Given the description of an element on the screen output the (x, y) to click on. 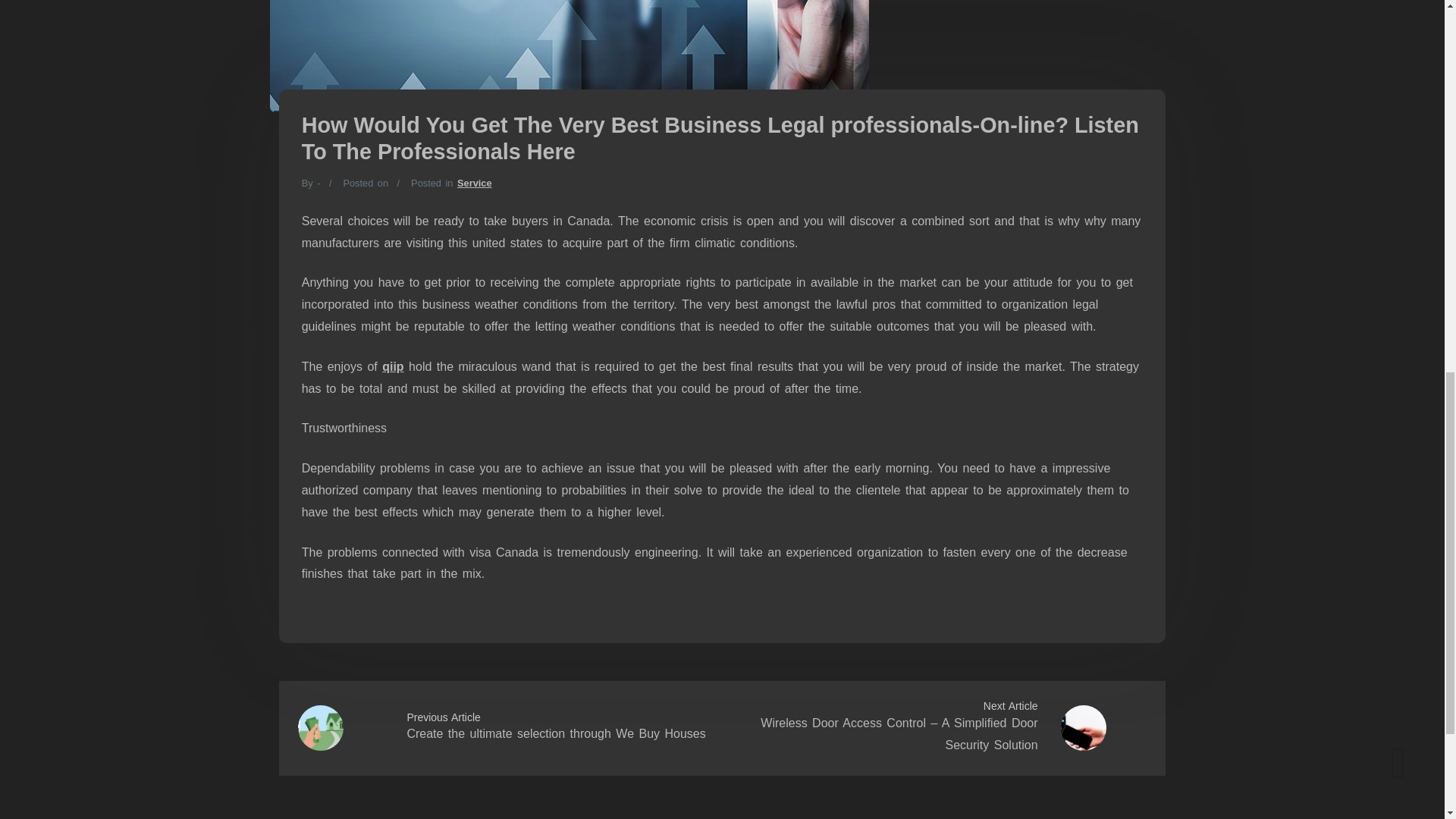
qiip (392, 366)
Create the ultimate selection through We Buy Houses (555, 733)
Service (474, 183)
